Given the description of an element on the screen output the (x, y) to click on. 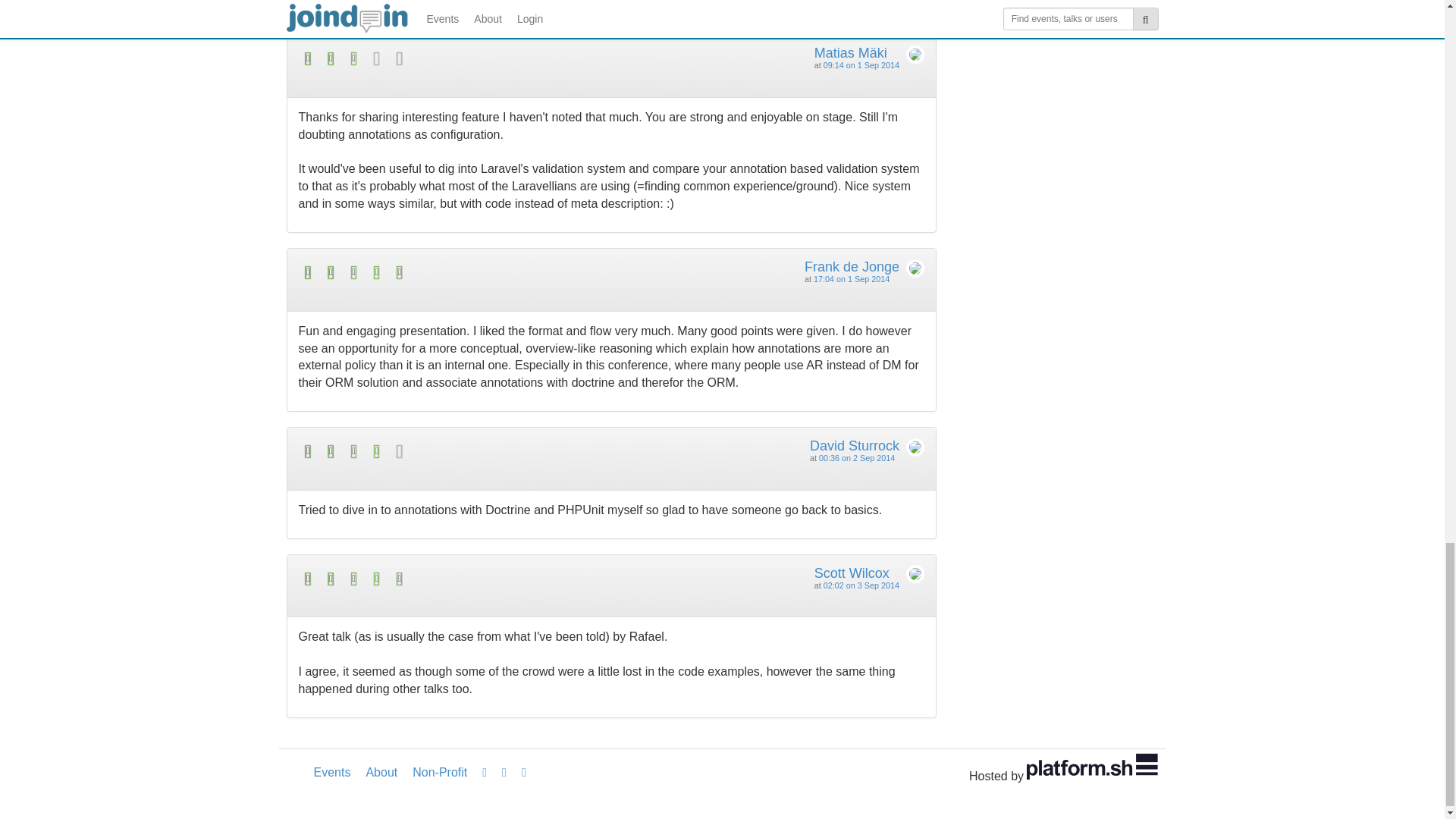
Rated 5 (454, 578)
00:36 on 2 Sep 2014 (856, 457)
02:02 on 3 Sep 2014 (861, 584)
Frank de Jonge (852, 266)
Rated 3 (454, 58)
Rated 5 (454, 271)
Rated 4 (454, 451)
Scott Wilcox (851, 572)
09:14 on 1 Sep 2014 (861, 64)
17:04 on 1 Sep 2014 (851, 278)
David Sturrock (854, 445)
